Given the description of an element on the screen output the (x, y) to click on. 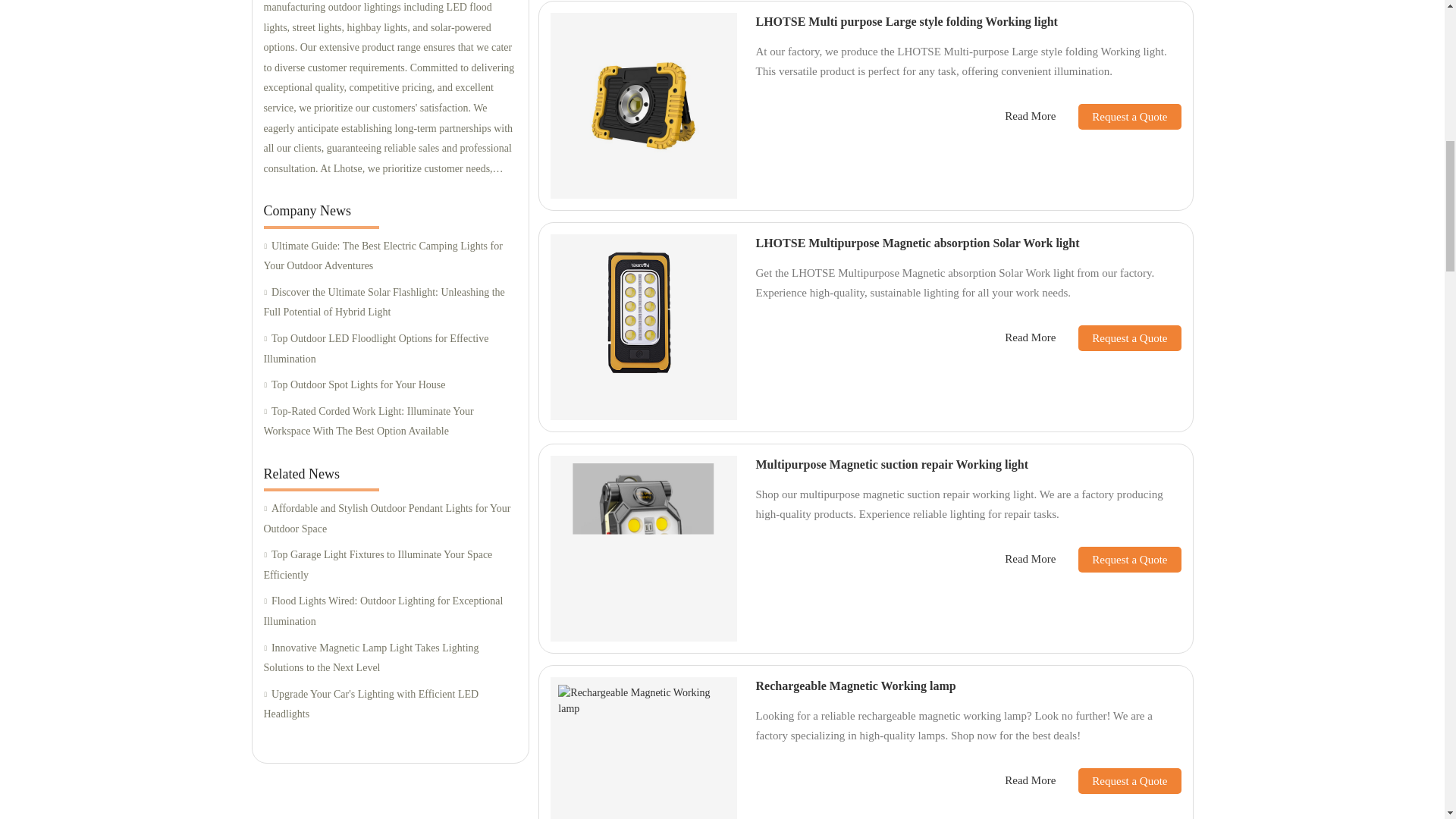
Request a Quote (1117, 115)
Top Outdoor Spot Lights for Your House (389, 385)
Read More (1029, 116)
